Given the description of an element on the screen output the (x, y) to click on. 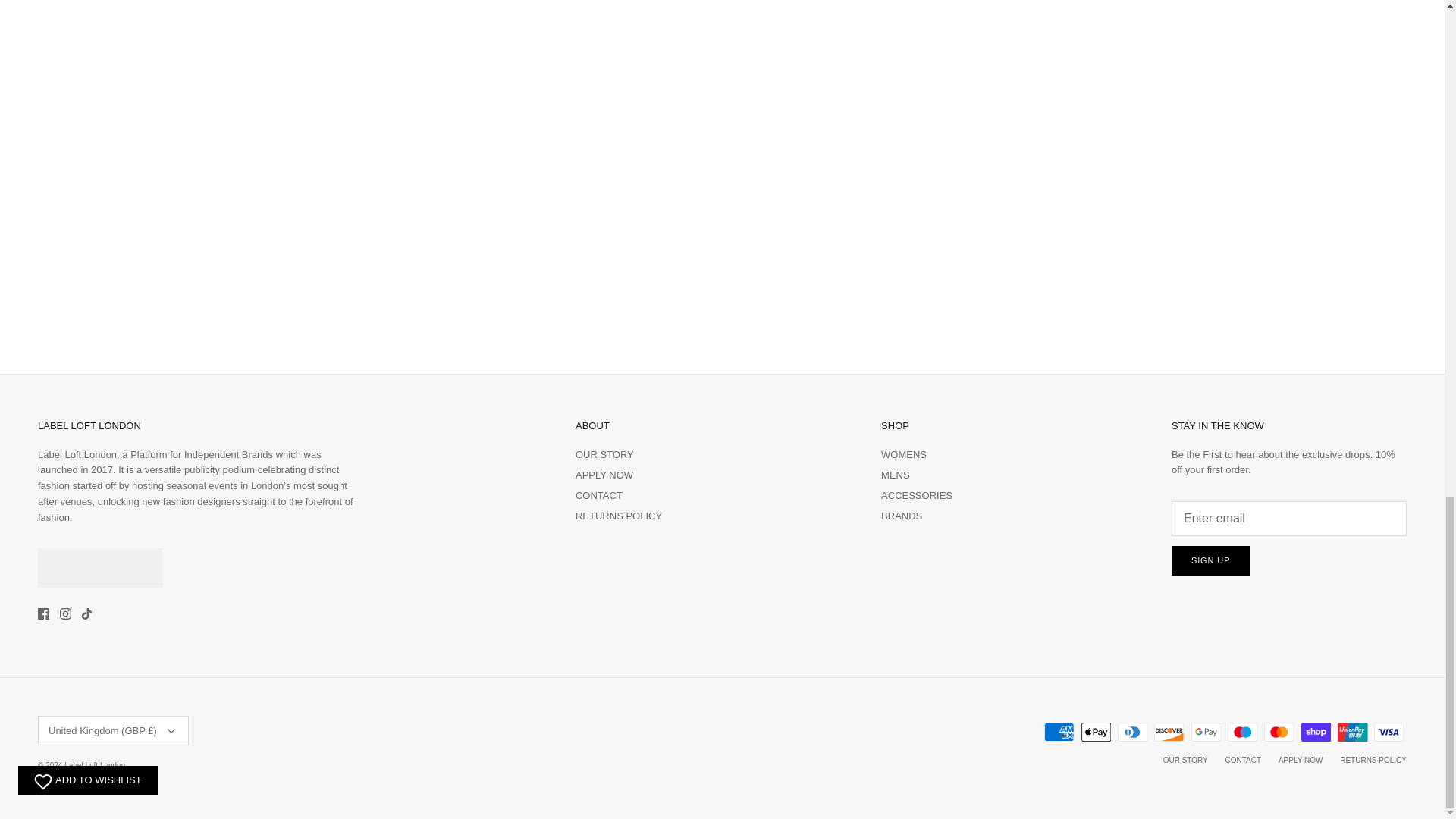
American Express (1058, 732)
FACEBOOK (43, 613)
INSTAGRAM (65, 613)
Diners Club (1132, 732)
Apple Pay (1095, 732)
Discover (1168, 732)
